Given the description of an element on the screen output the (x, y) to click on. 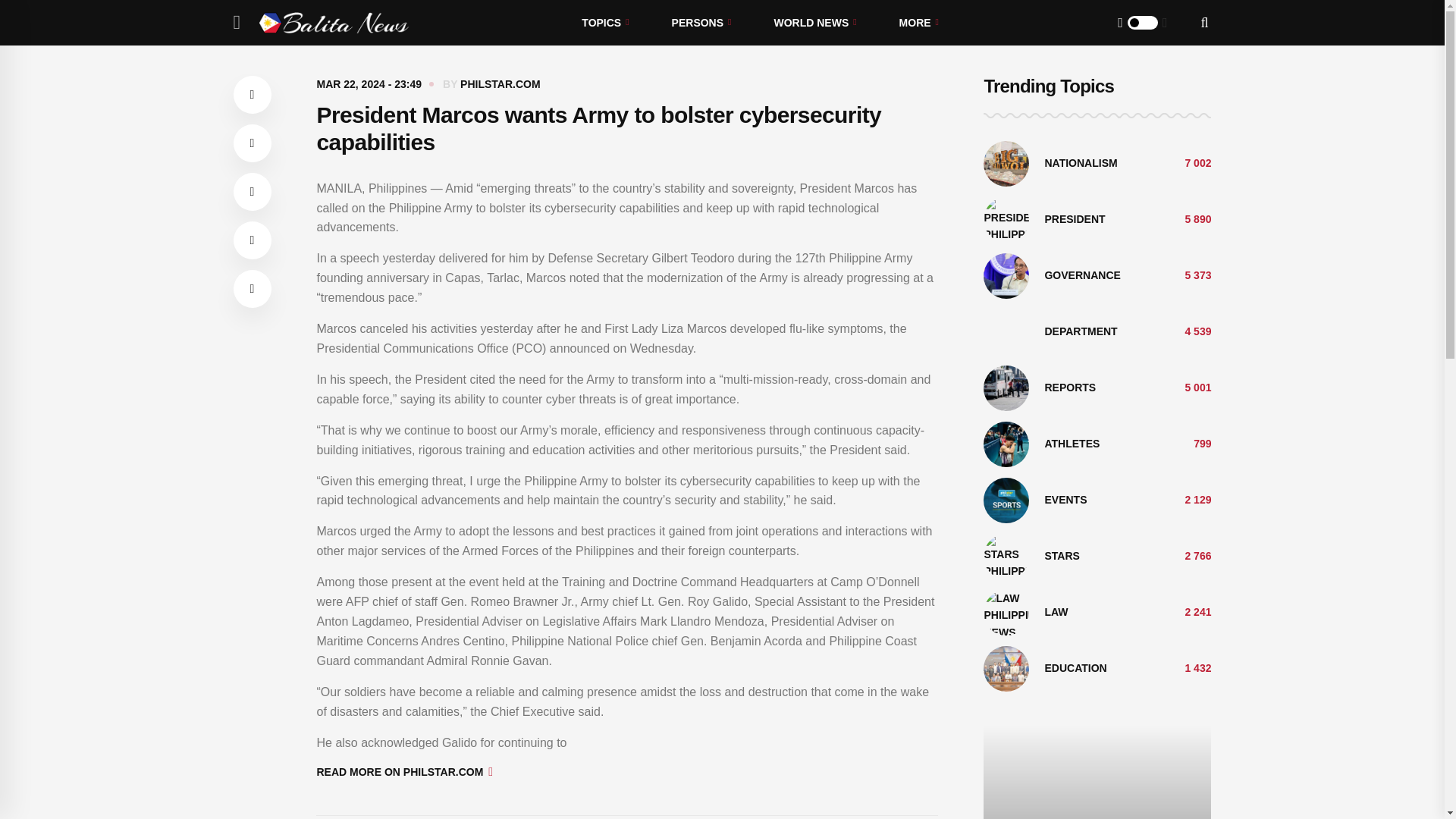
Philippine News Today on balita.org (334, 22)
WORLD NEWS (814, 22)
Persons (701, 22)
Topics (604, 22)
MORE (918, 22)
PERSONS (701, 22)
TOPICS (604, 22)
